Given the description of an element on the screen output the (x, y) to click on. 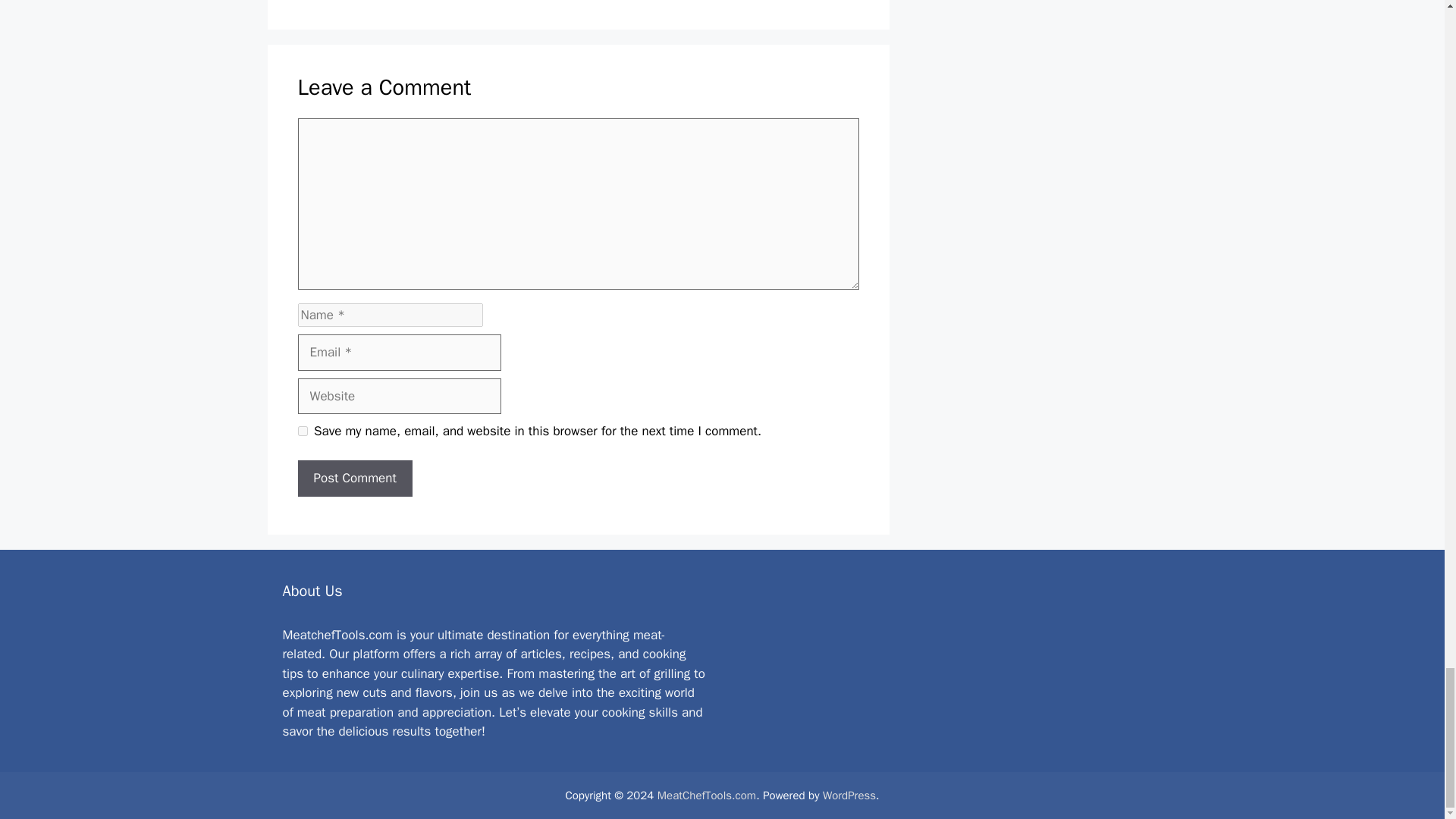
Post Comment (354, 478)
WordPress (849, 795)
MeatChefTools.com (706, 795)
Post Comment (354, 478)
yes (302, 430)
